Given the description of an element on the screen output the (x, y) to click on. 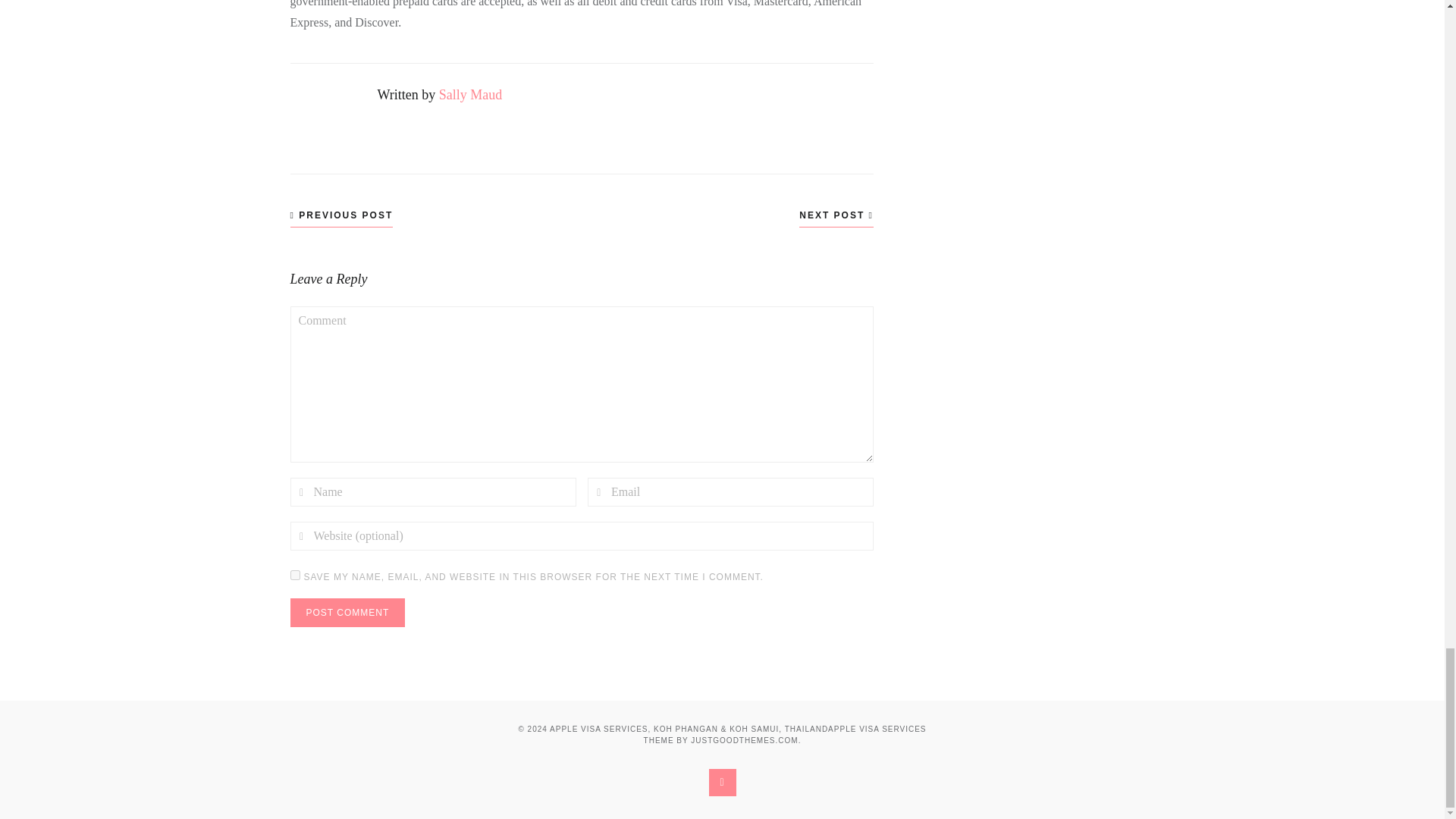
yes (294, 574)
Post Comment (346, 612)
